Given the description of an element on the screen output the (x, y) to click on. 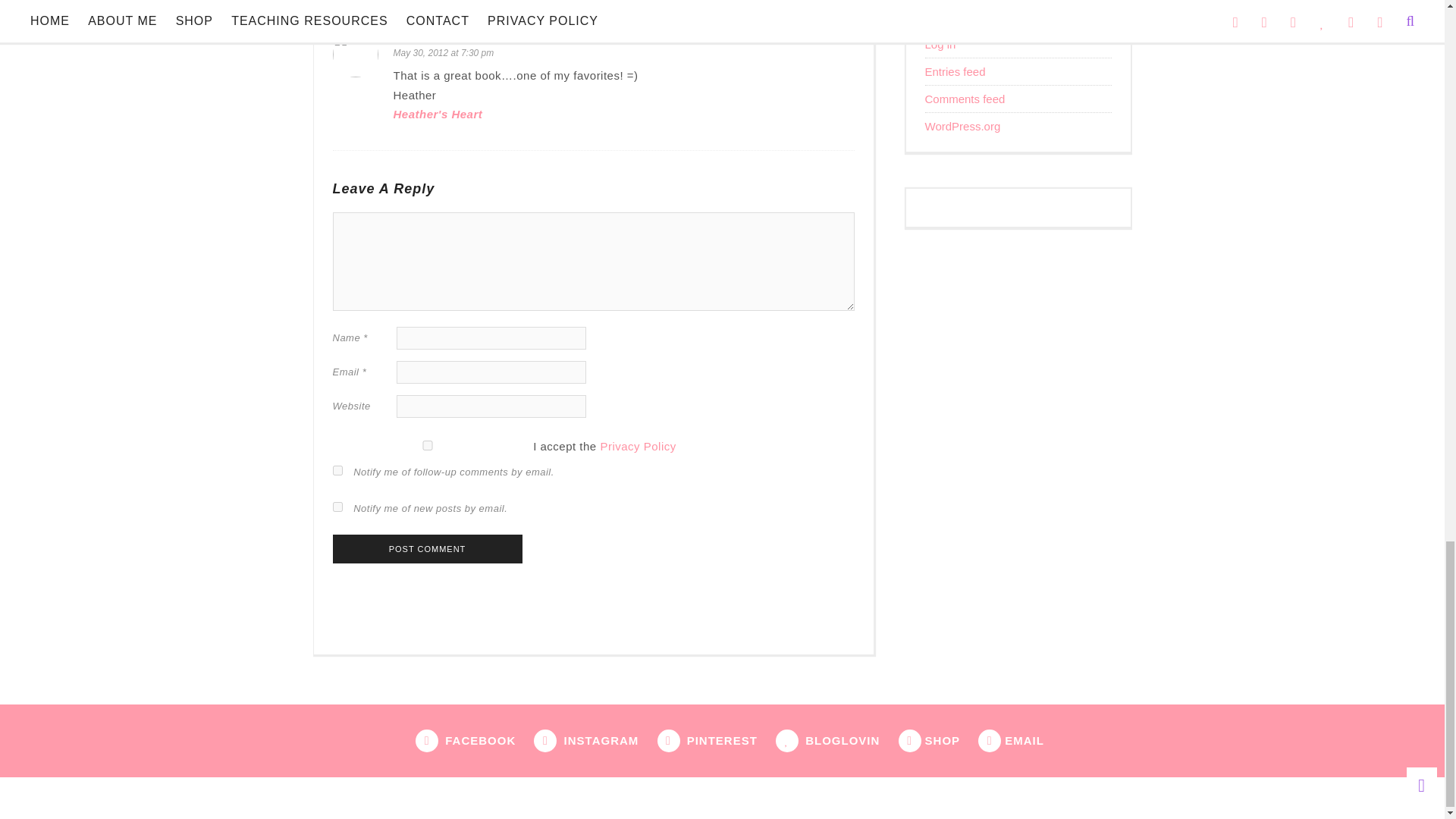
Reply (840, 38)
Post Comment (426, 548)
1 (426, 445)
subscribe (336, 506)
subscribe (336, 470)
